Given the description of an element on the screen output the (x, y) to click on. 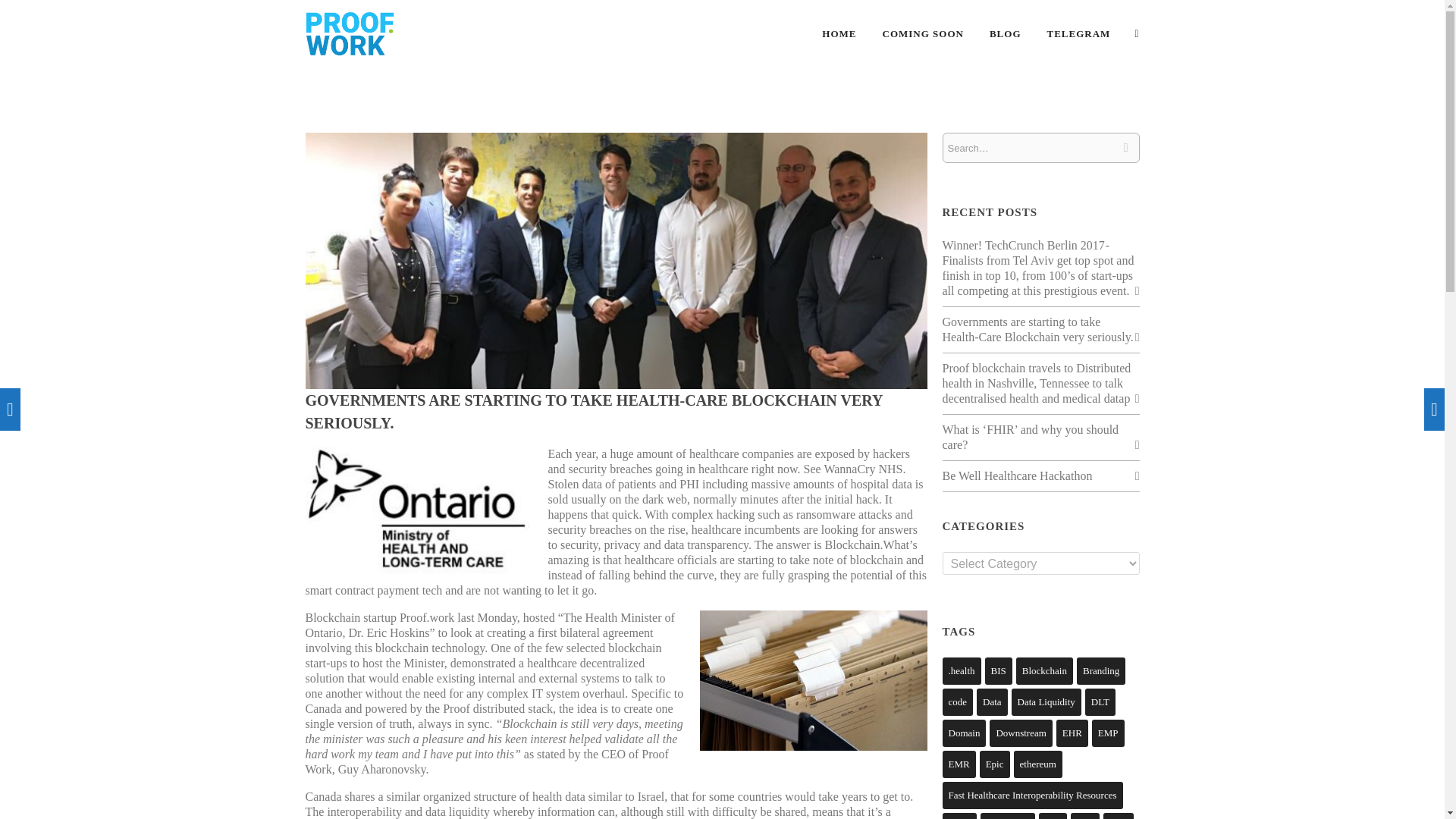
Downstream (1020, 732)
code (957, 701)
BIS (998, 670)
.health (960, 670)
Domain (963, 732)
EHR (1072, 732)
BLOG (1004, 33)
TELEGRAM (1078, 33)
